Given the description of an element on the screen output the (x, y) to click on. 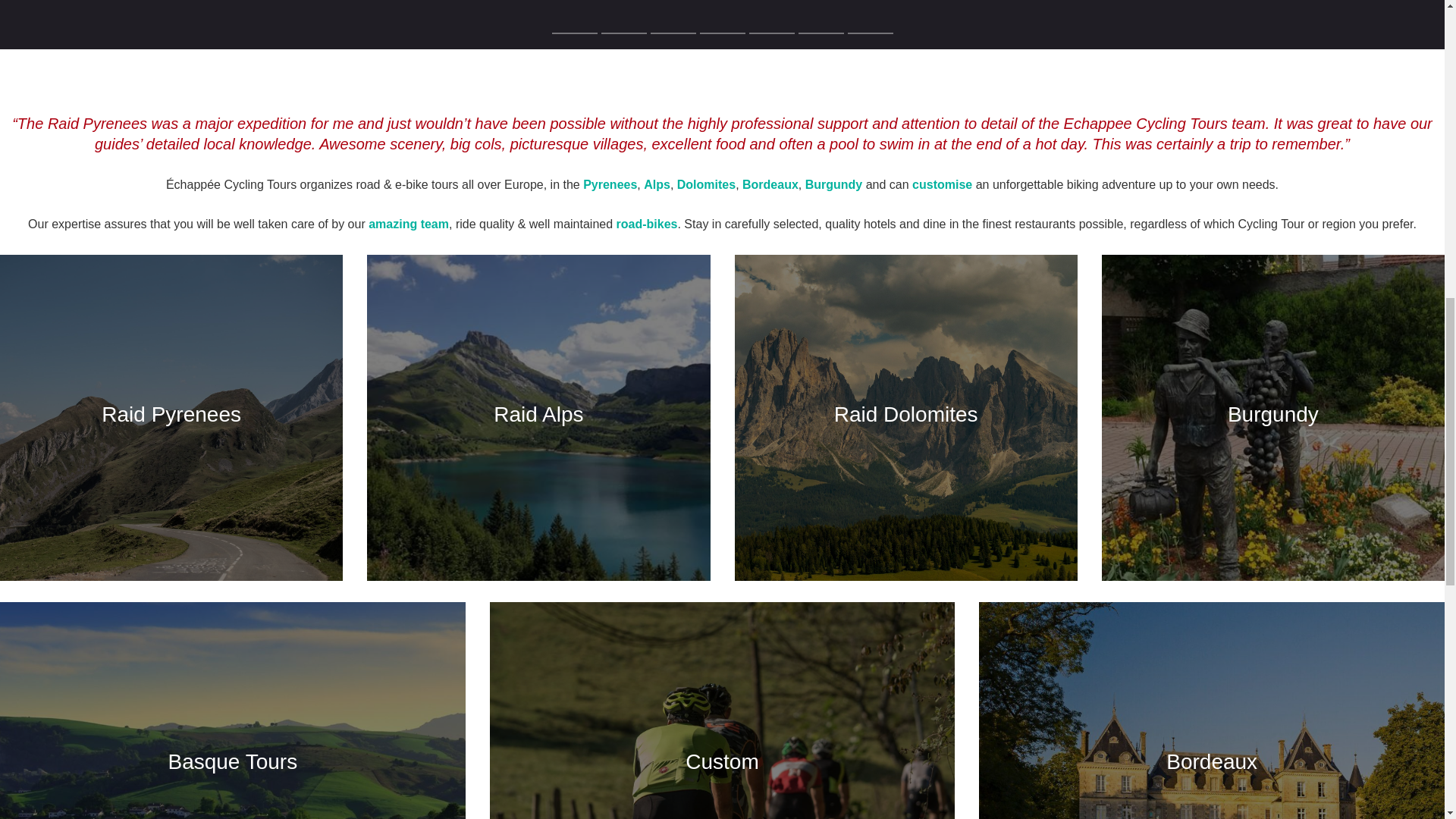
Burgundy (834, 184)
customise (942, 184)
Pyrenees (610, 184)
amazing team (408, 223)
Dolomites (706, 184)
Alps (656, 184)
road-bikes (646, 223)
Bordeaux (769, 184)
